Given the description of an element on the screen output the (x, y) to click on. 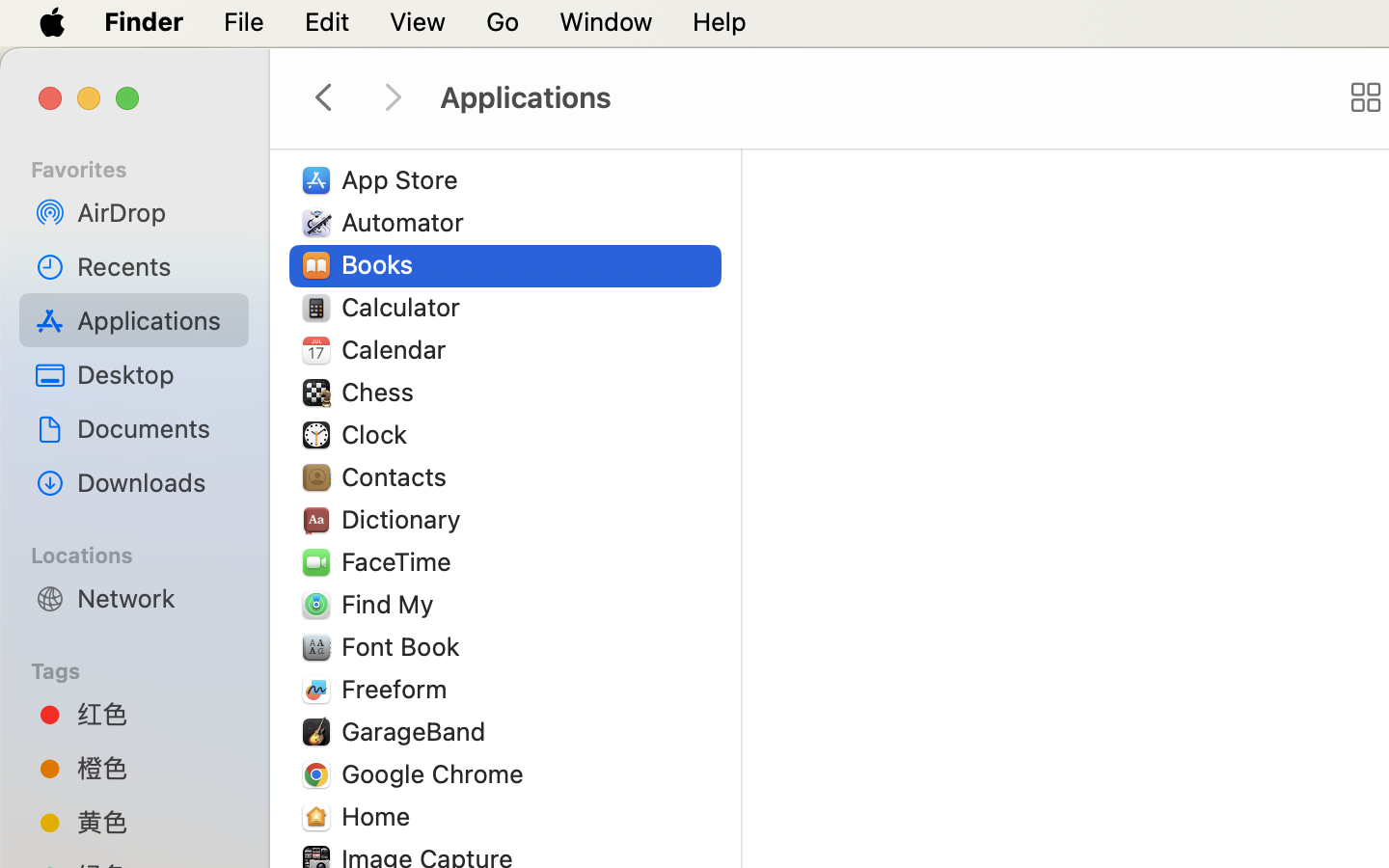
Home Element type: AXTextField (379, 815)
Recents Element type: AXStaticText (155, 265)
Favorites Element type: AXStaticText (145, 166)
Tags Element type: AXStaticText (145, 668)
App Store Element type: AXTextField (403, 178)
